Given the description of an element on the screen output the (x, y) to click on. 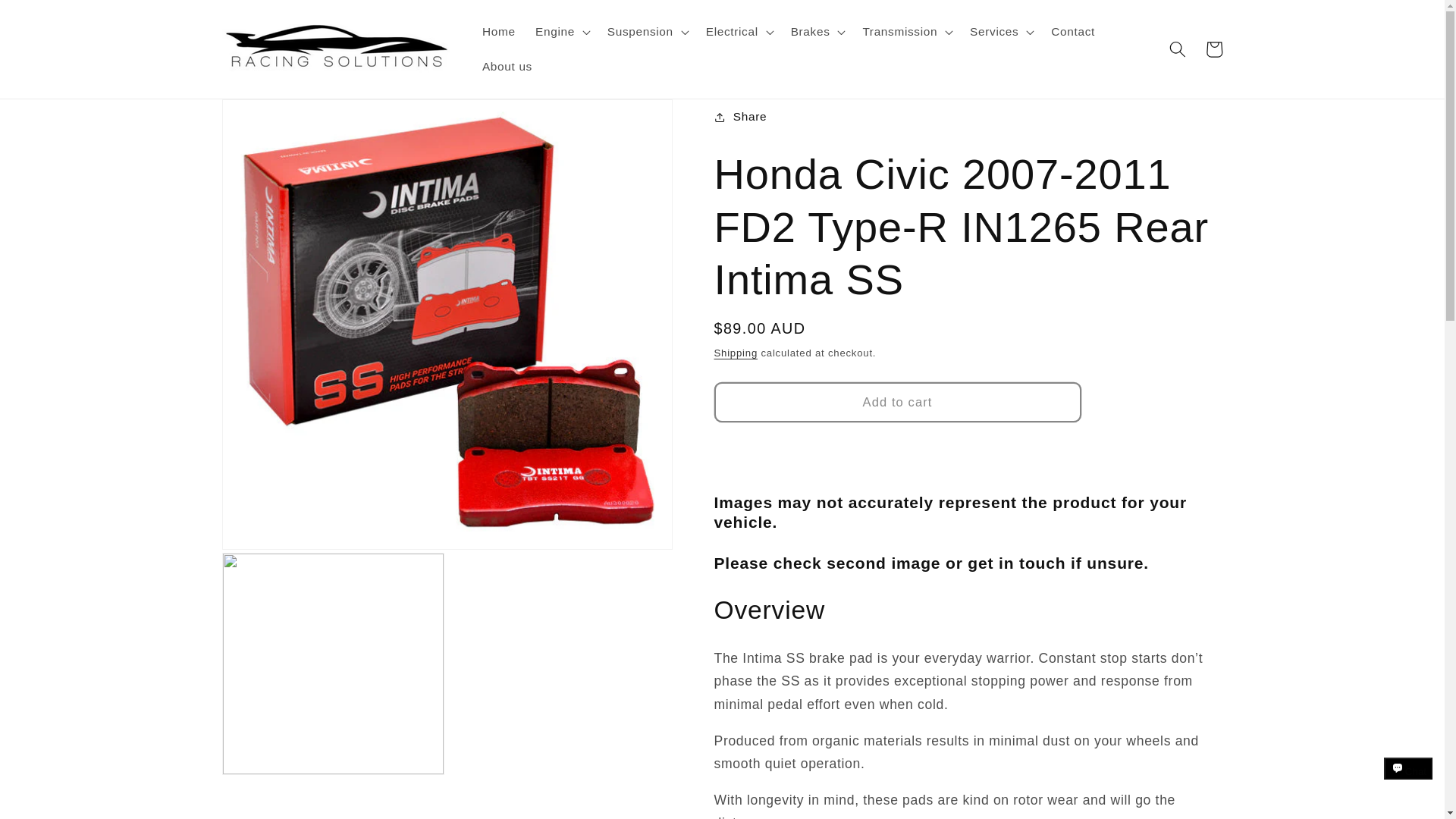
Skip to content (50, 20)
Shopify online store chat (1408, 781)
